Given the description of an element on the screen output the (x, y) to click on. 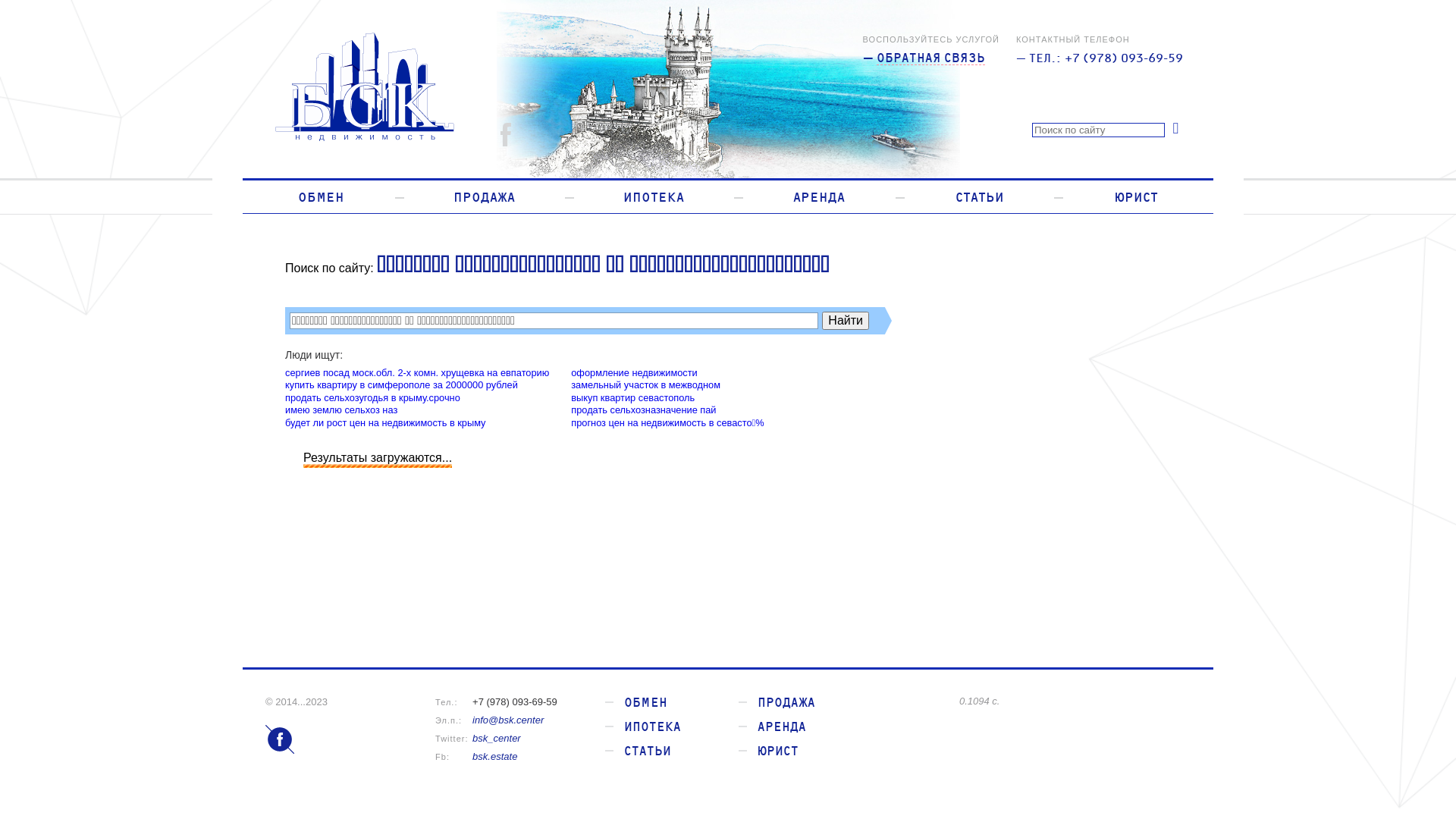
bsk.estate Element type: text (494, 756)
info@bsk.center Element type: text (507, 719)
0.1094 c. Element type: text (1074, 701)
bsk_center Element type: text (496, 738)
